Given the description of an element on the screen output the (x, y) to click on. 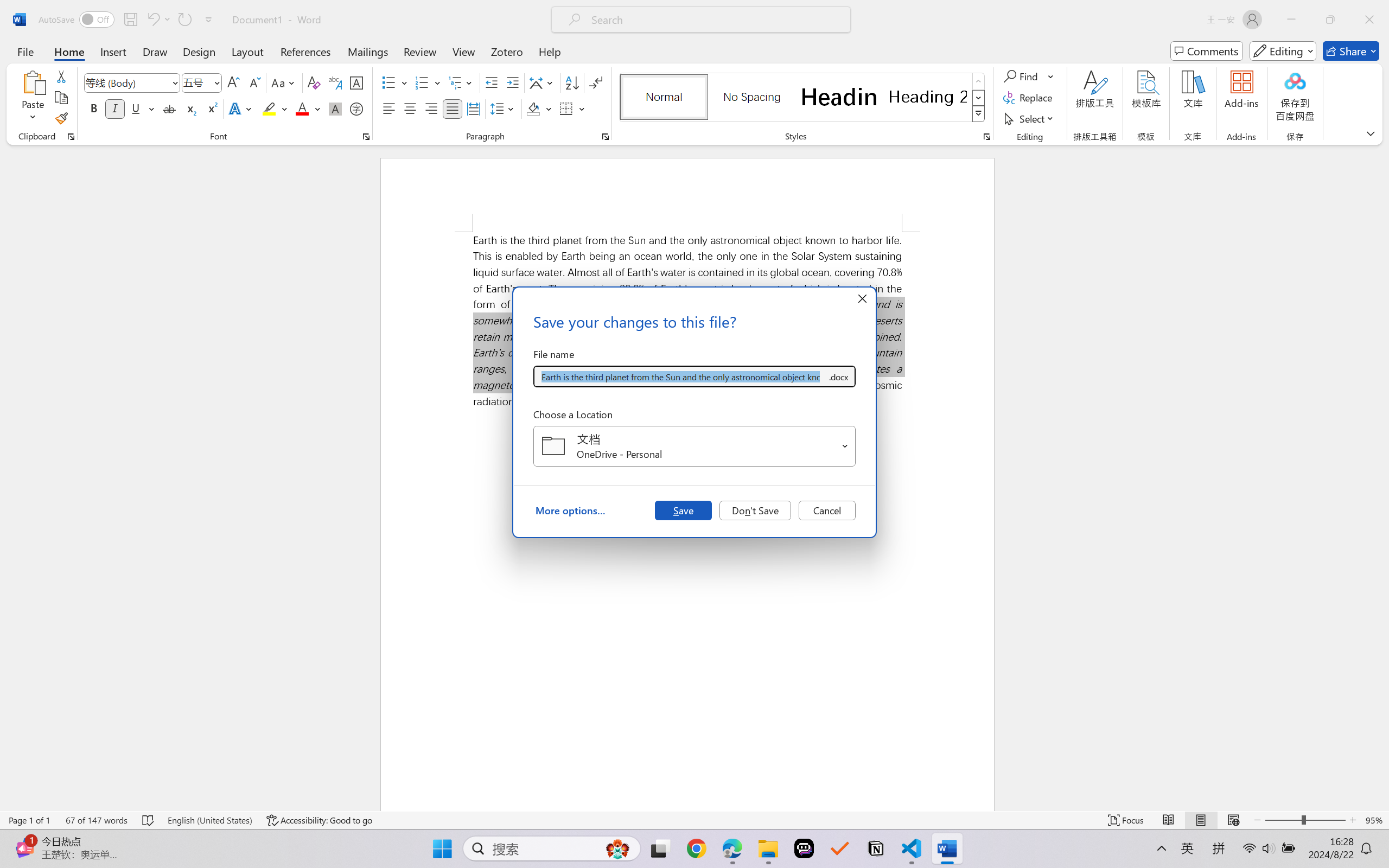
Google Chrome (696, 848)
Align Right (431, 108)
Select (1030, 118)
AutomationID: QuickStylesGallery (802, 97)
Italic (115, 108)
Character Border (356, 82)
